Given the description of an element on the screen output the (x, y) to click on. 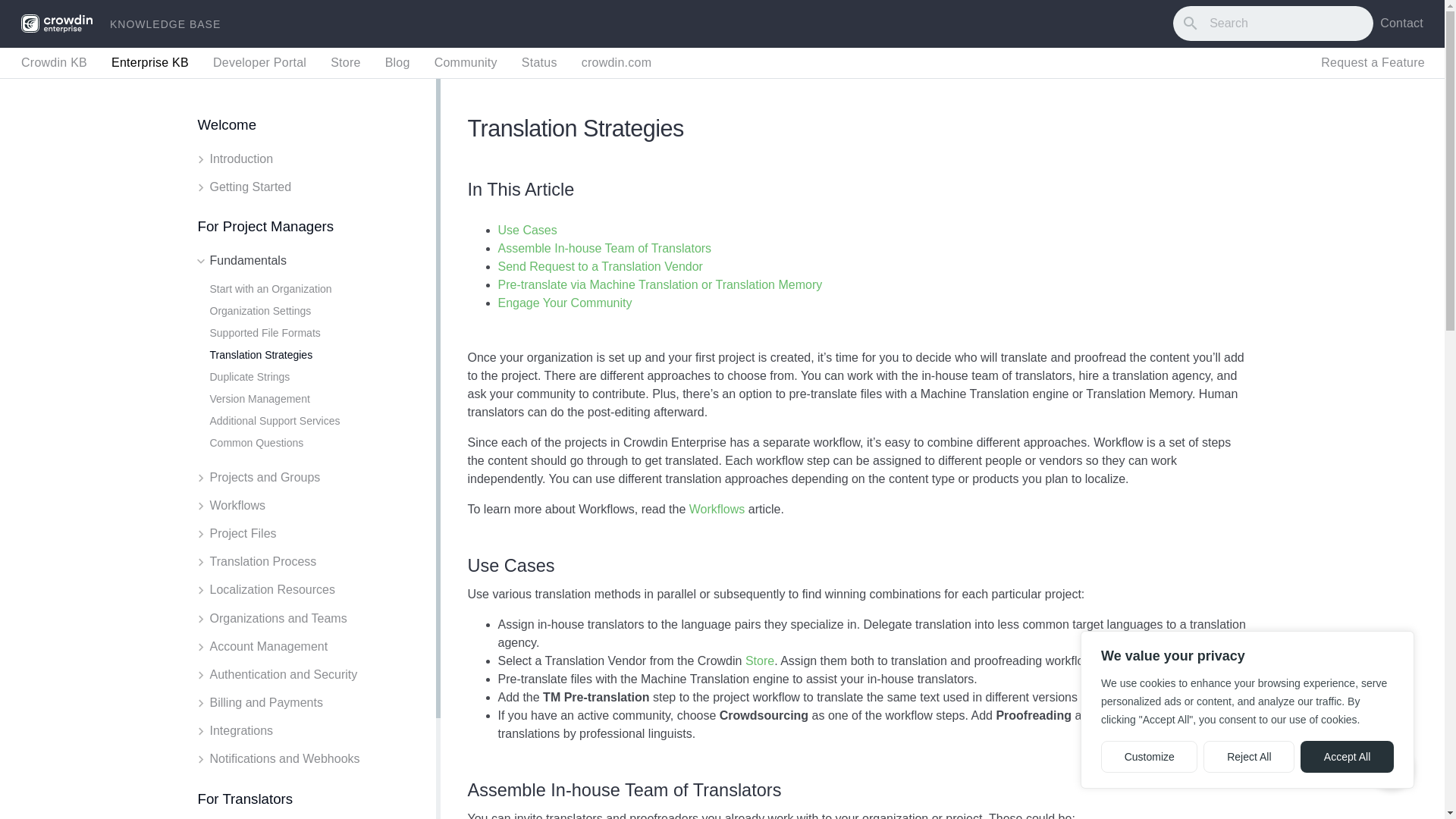
Status (539, 62)
Accept All (1346, 757)
KNOWLEDGE BASE (165, 22)
crowdin.com (616, 62)
Customize (1148, 757)
Community (465, 62)
Contact (1401, 22)
Reject All (1249, 757)
Developer Portal (258, 62)
Store (345, 62)
Crowdin KB (54, 62)
Blog (397, 62)
Request a Feature (1372, 63)
Enterprise KB (150, 62)
